Given the description of an element on the screen output the (x, y) to click on. 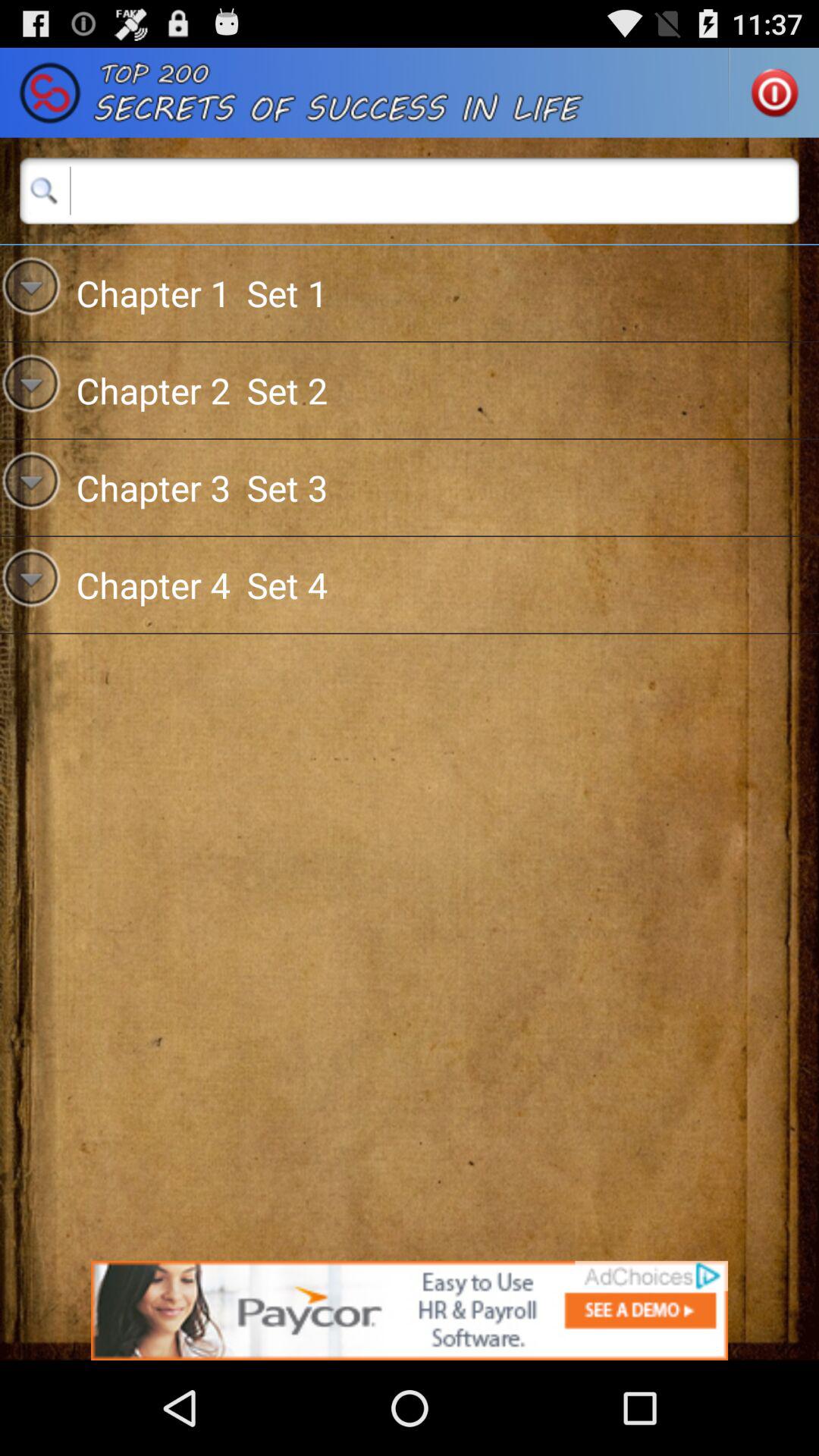
advertisement banner (409, 1310)
